Given the description of an element on the screen output the (x, y) to click on. 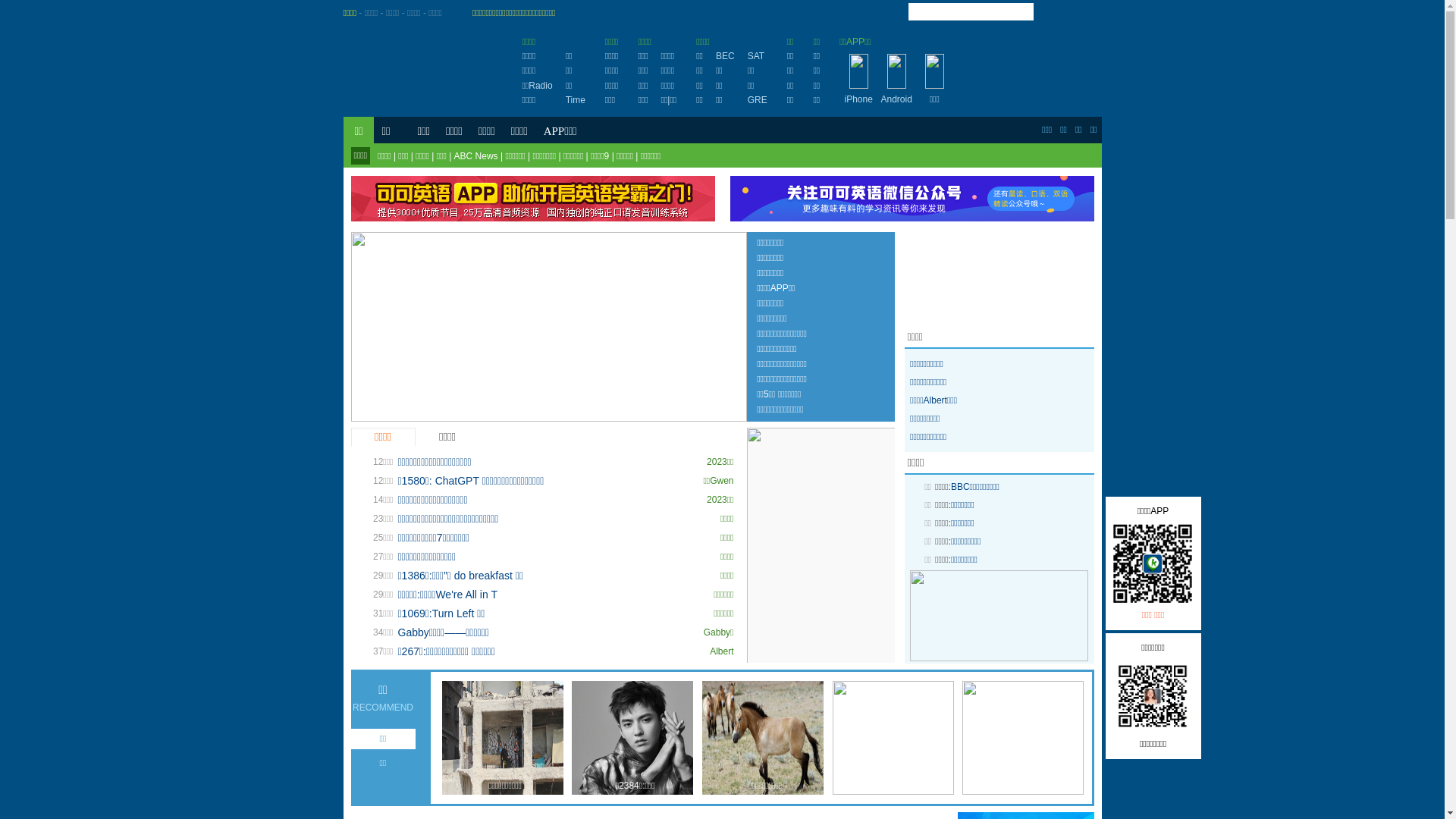
BEC Element type: text (724, 55)
| Element type: text (668, 99)
ABC News Element type: text (476, 155)
Android Element type: text (896, 99)
Albert Element type: text (721, 651)
GRE Element type: text (757, 99)
iPhone Element type: text (858, 99)
Time Element type: text (575, 99)
SAT Element type: text (755, 55)
